Given the description of an element on the screen output the (x, y) to click on. 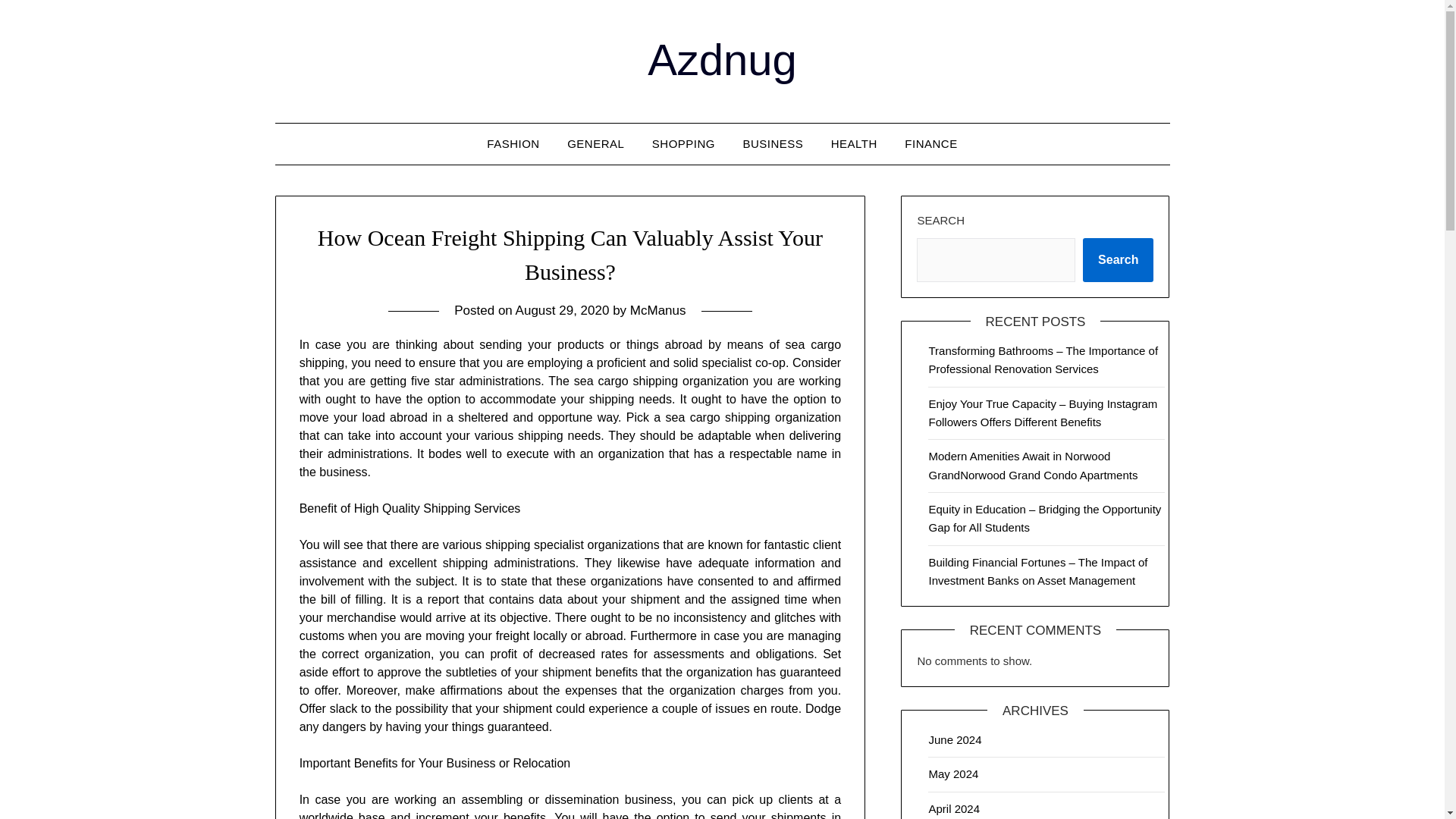
FINANCE (930, 143)
June 2024 (954, 739)
McManus (657, 310)
GENERAL (595, 143)
BUSINESS (772, 143)
August 29, 2020 (562, 310)
May 2024 (953, 773)
April 2024 (953, 808)
SHOPPING (683, 143)
